Given the description of an element on the screen output the (x, y) to click on. 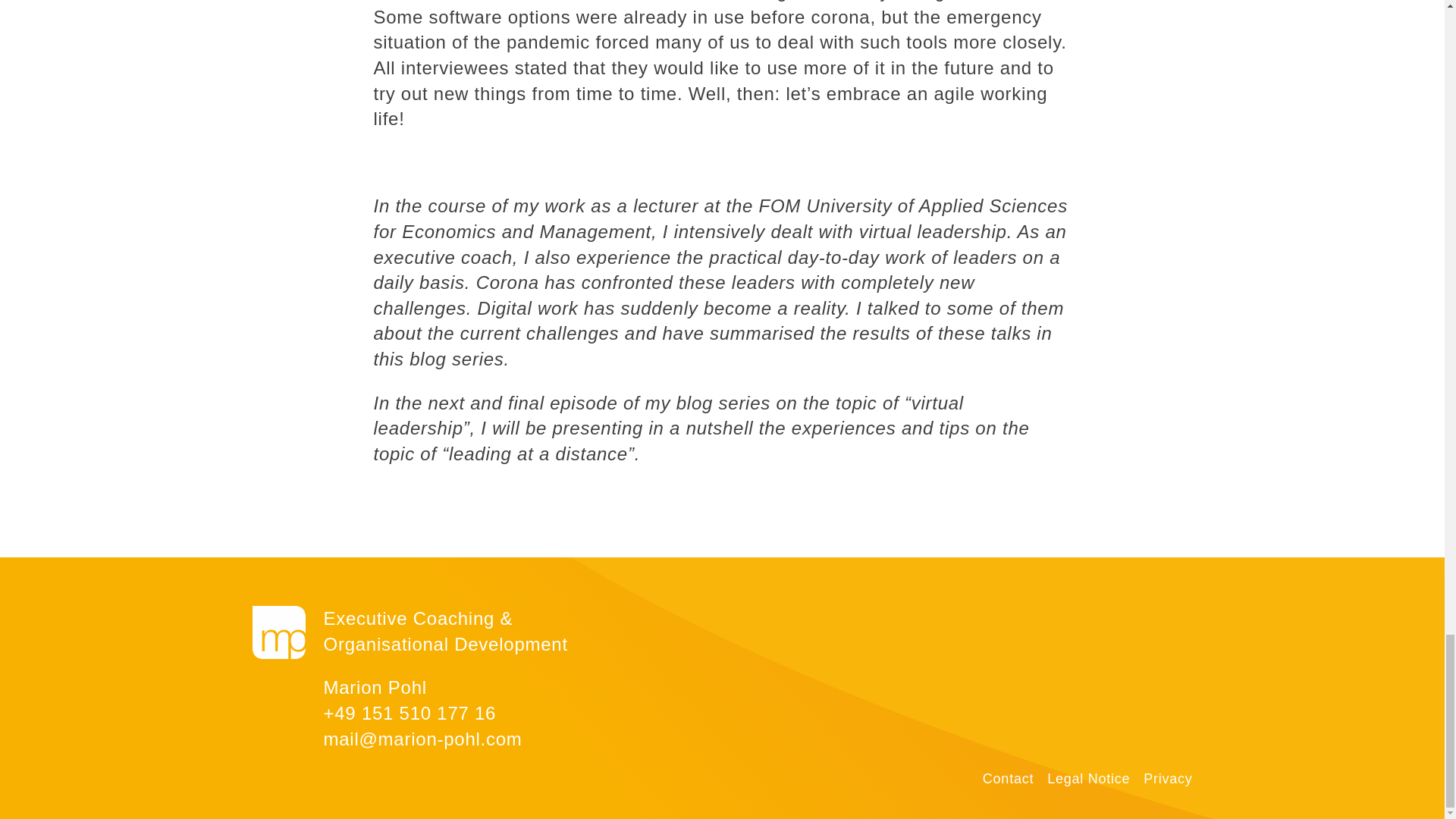
Privacy (1167, 778)
Legal Notice (1087, 778)
Contact (1007, 778)
